Given the description of an element on the screen output the (x, y) to click on. 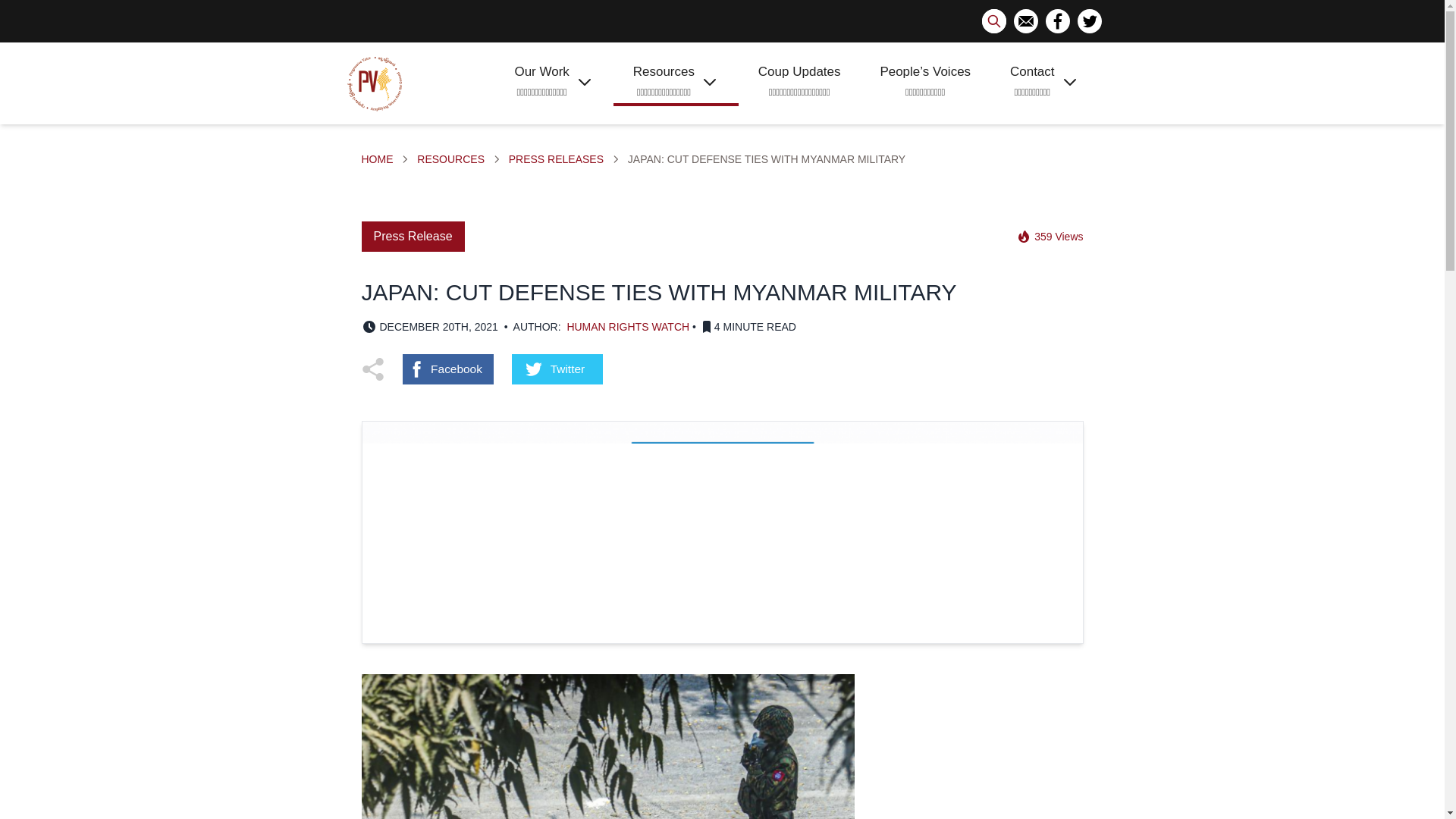
Progressive Voice - Home Page (374, 83)
HUMAN RIGHTS WATCH (627, 326)
Join Progressive Voice on Facebook (1056, 21)
PRESS RELEASES (556, 159)
HOME (377, 159)
Home (377, 159)
Share on Twitter (556, 368)
Press Release (412, 236)
Share on Facebook (447, 368)
Email Progressive Voice (1024, 21)
